Given the description of an element on the screen output the (x, y) to click on. 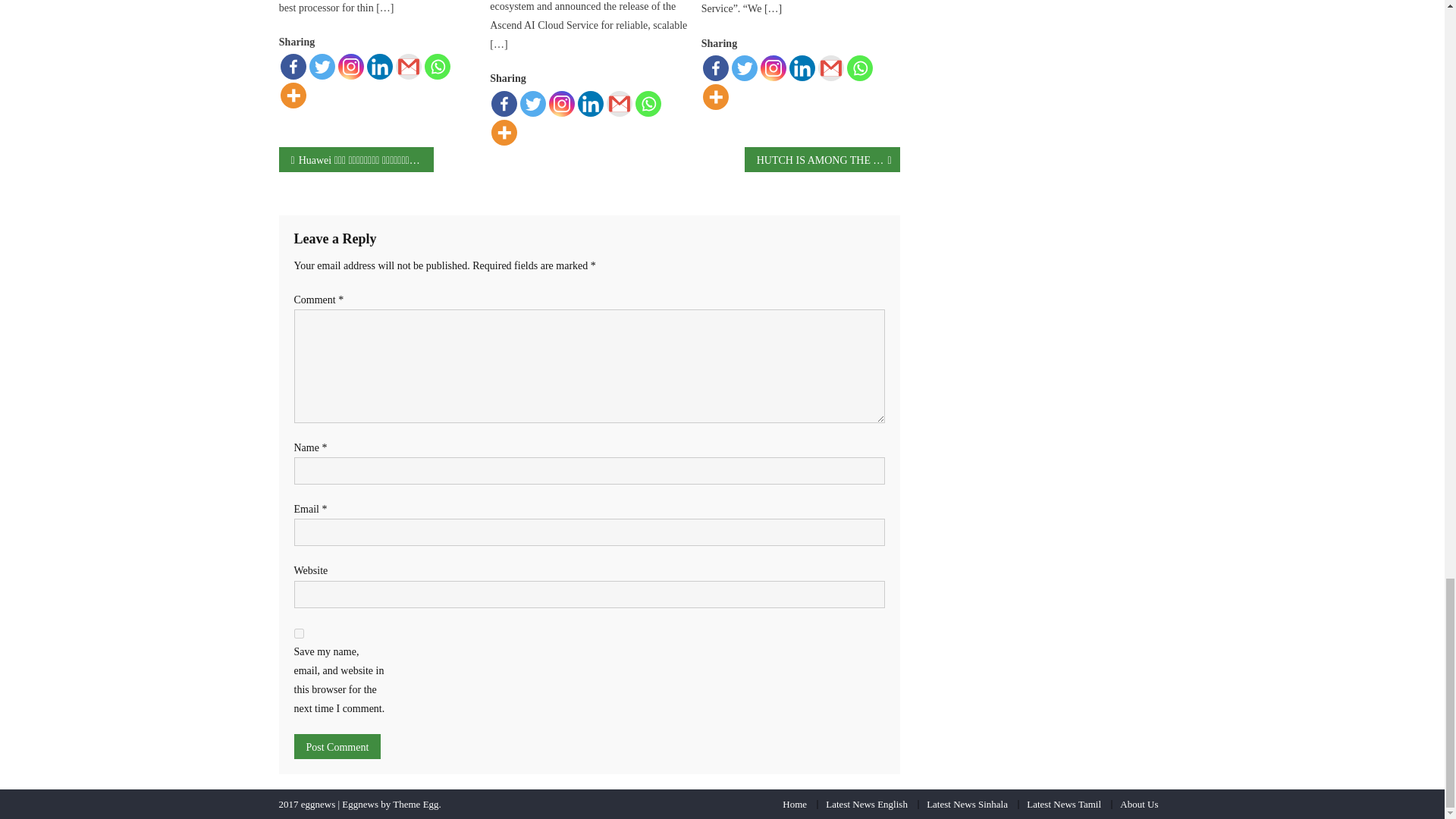
Twitter (321, 66)
Google Gmail (409, 66)
More (293, 95)
Linkedin (379, 66)
Facebook (293, 66)
Instagram (350, 66)
Post Comment (337, 746)
Whatsapp (437, 66)
yes (299, 633)
